Given the description of an element on the screen output the (x, y) to click on. 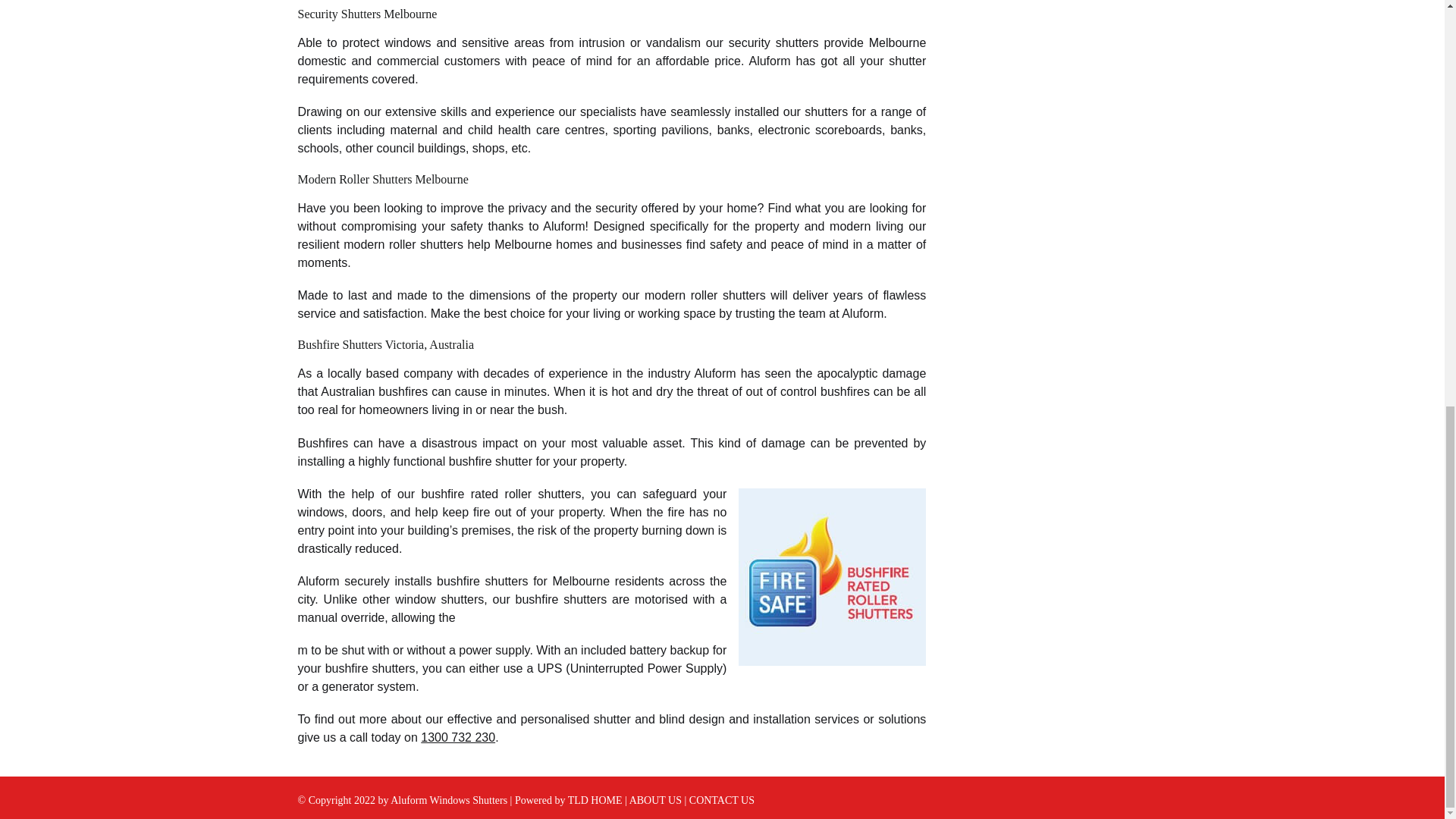
CONTACT US (721, 799)
1300 732 230 (457, 737)
HOME (606, 799)
TLD (577, 799)
ABOUT US (654, 799)
